Given the description of an element on the screen output the (x, y) to click on. 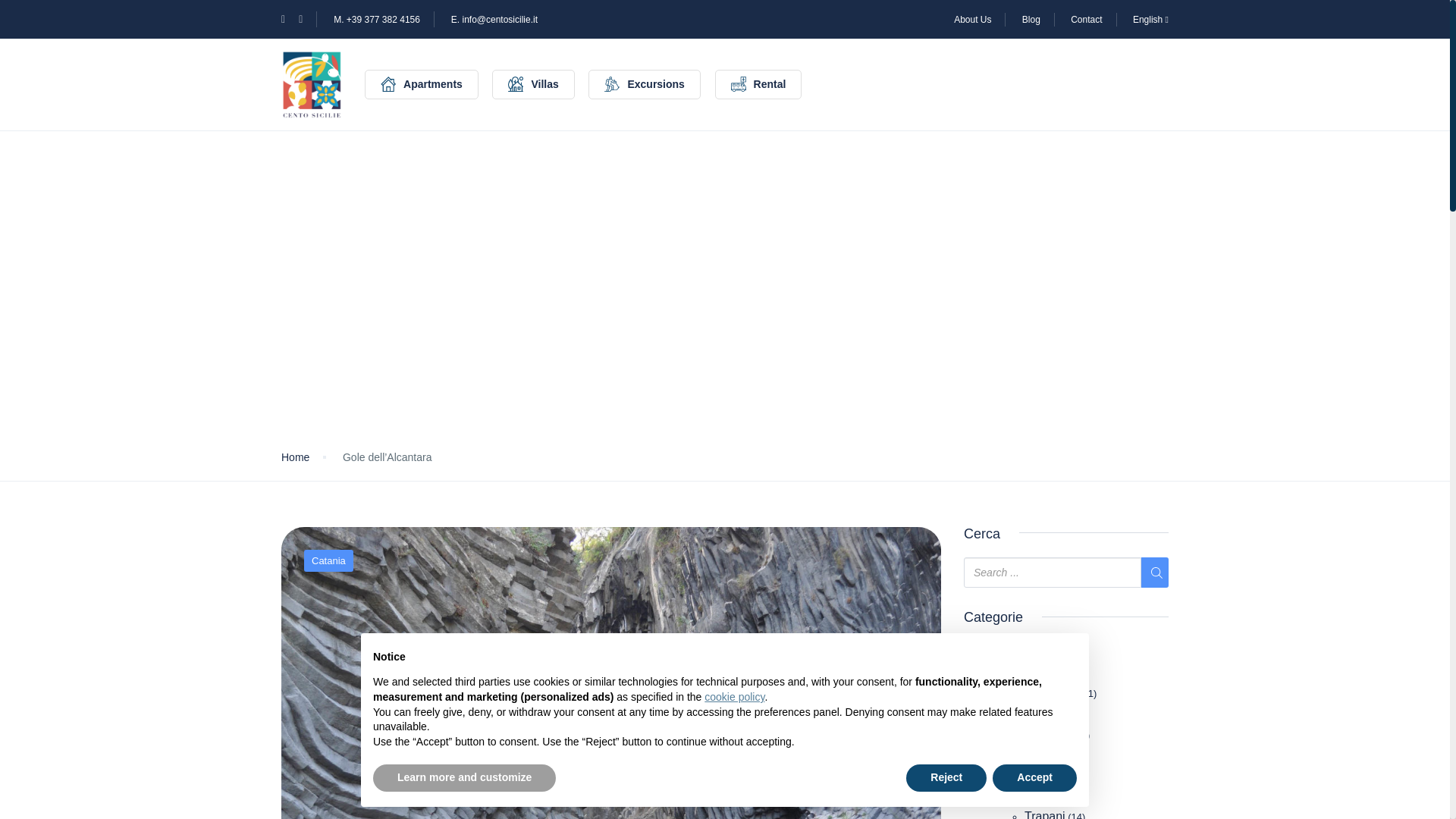
Villas (532, 84)
Curiosity (1017, 651)
Rental (758, 84)
Excursions (644, 84)
Home (294, 457)
Trapani (1045, 814)
Messina (1047, 734)
Siracusa (1048, 795)
Place (1009, 671)
Ragusa (1045, 775)
Palermo (1047, 754)
Catania (1045, 713)
Blog (1031, 18)
About Us (972, 18)
English (1150, 18)
